Given the description of an element on the screen output the (x, y) to click on. 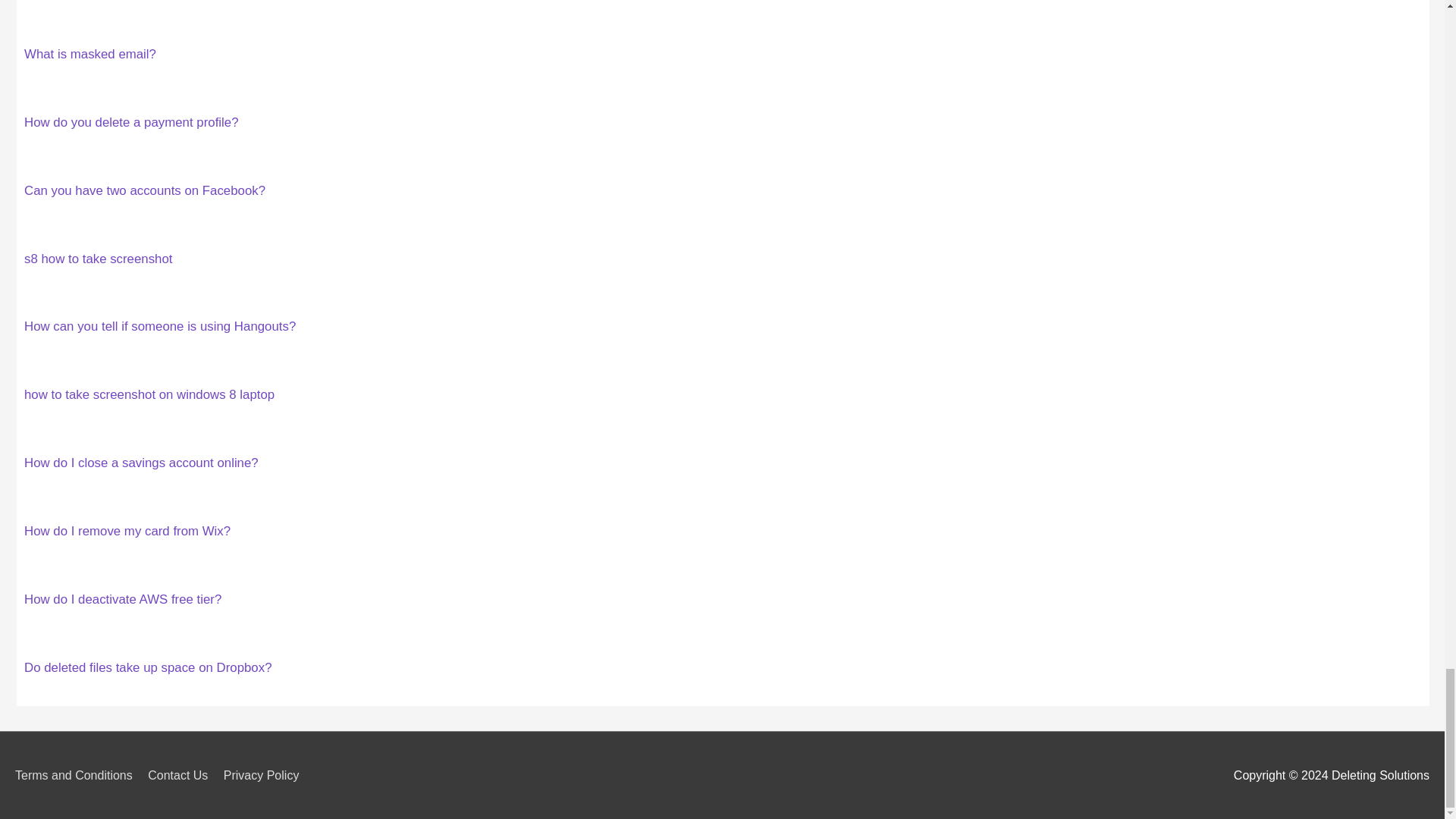
how to take screenshot on windows 8 laptop (149, 394)
How do you delete a payment profile? (131, 122)
s8 how to take screenshot (98, 258)
How can you tell if someone is using Hangouts? (159, 326)
Can you have two accounts on Facebook? (144, 190)
What is masked email? (89, 53)
How do I close a savings account online? (141, 462)
Privacy Policy (267, 775)
Do deleted files take up space on Dropbox? (148, 667)
How do I deactivate AWS free tier? (122, 599)
Contact Us (183, 775)
How do I remove my card from Wix? (127, 531)
Terms and Conditions (79, 775)
